Given the description of an element on the screen output the (x, y) to click on. 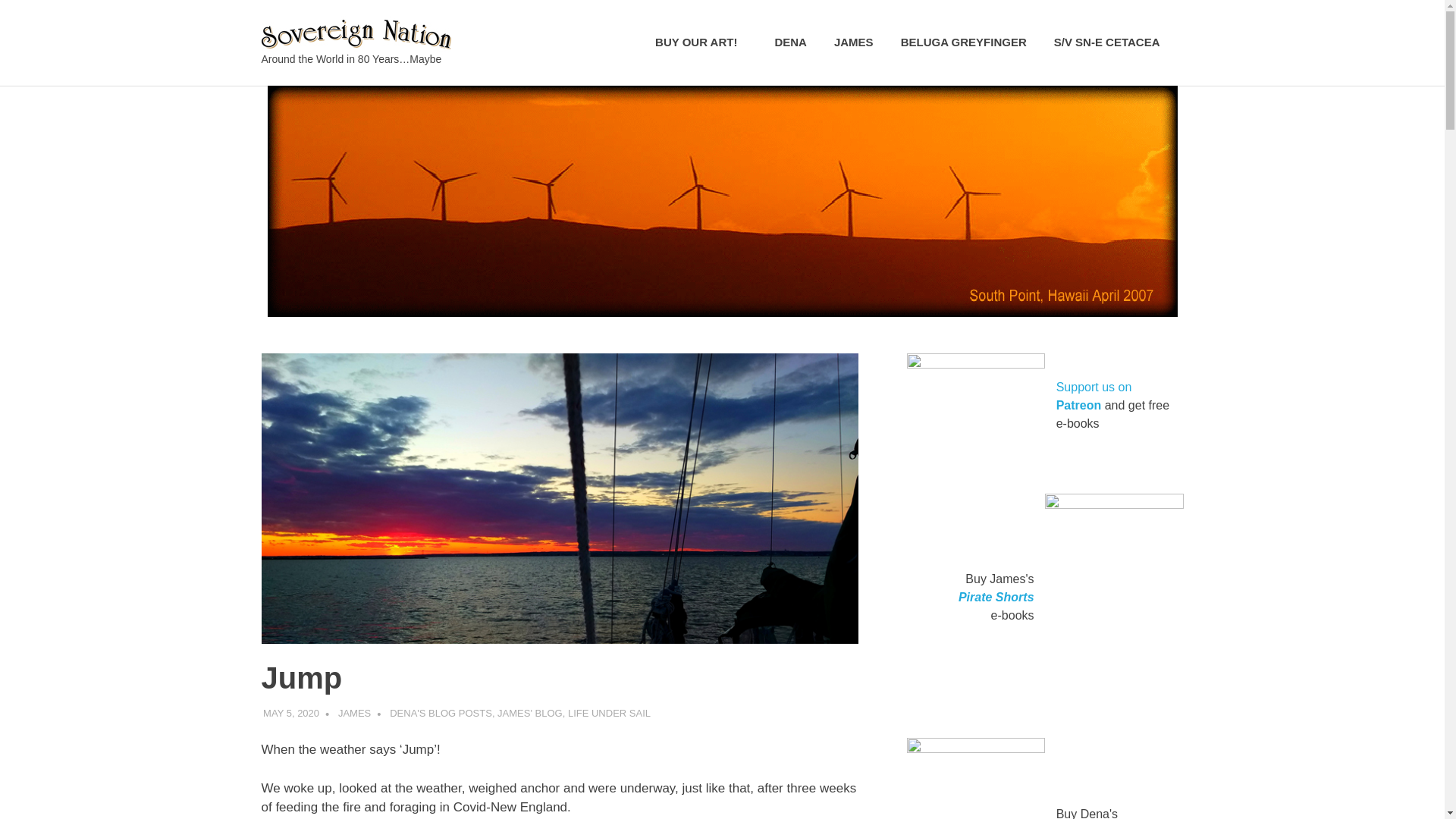
BUY OUR ART! (701, 42)
JAMES (853, 42)
Support us on Patreon (1094, 395)
JAMES' BLOG (529, 713)
11:02 am (290, 713)
JAMES (354, 713)
View all posts by James (354, 713)
DENA'S BLOG POSTS (441, 713)
BELUGA GREYFINGER (963, 42)
MAY 5, 2020 (290, 713)
DENA (790, 42)
LIFE UNDER SAIL (608, 713)
